Given the description of an element on the screen output the (x, y) to click on. 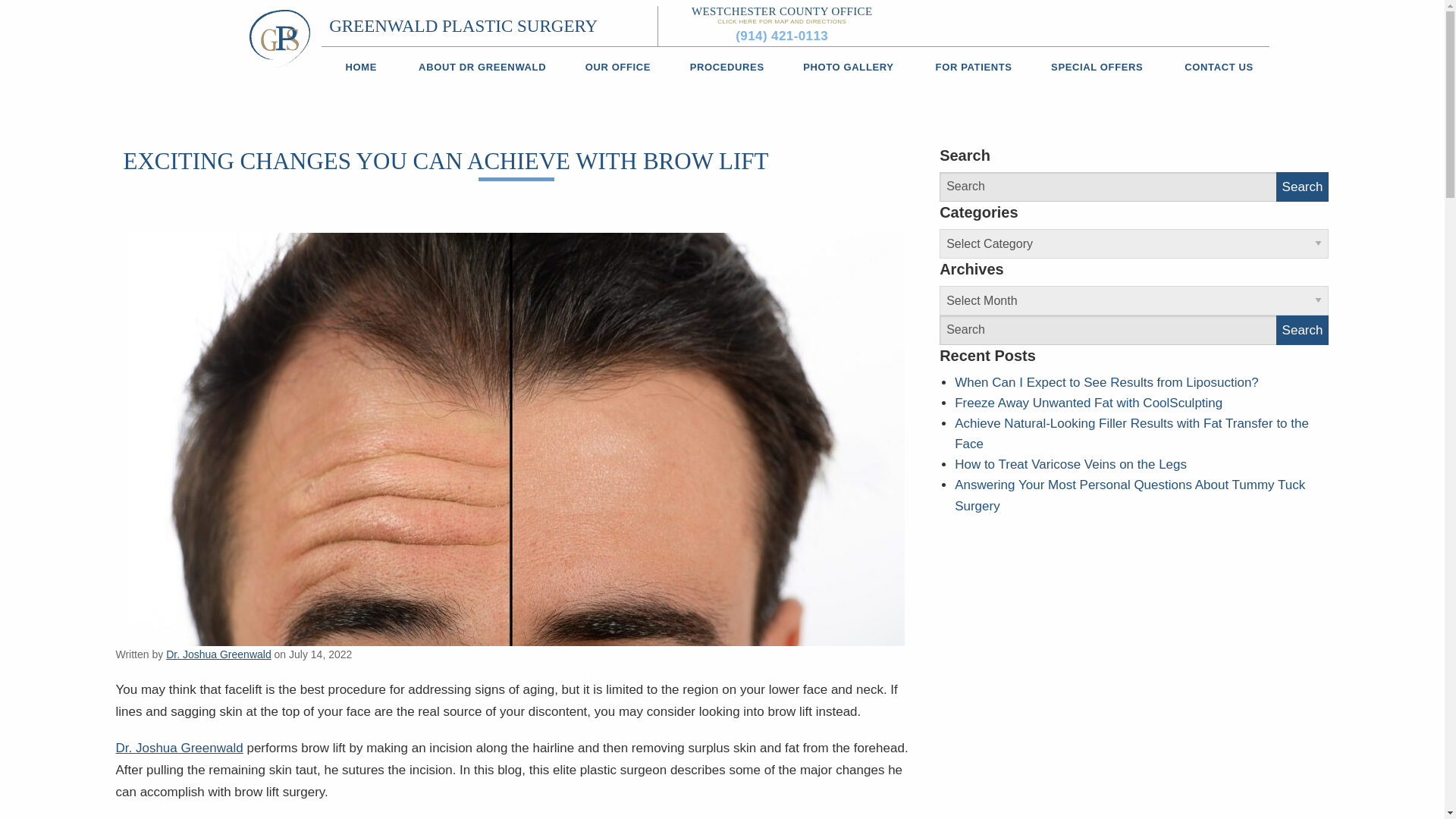
CLICK HERE FOR MAP AND DIRECTIONS (781, 21)
Greenwald Plastic Surgery (279, 37)
HOME (360, 67)
ABOUT DR GREENWALD (480, 67)
Posts by Dr. Joshua Greenwald (217, 654)
OUR OFFICE (616, 67)
PROCEDURES (725, 67)
